Given the description of an element on the screen output the (x, y) to click on. 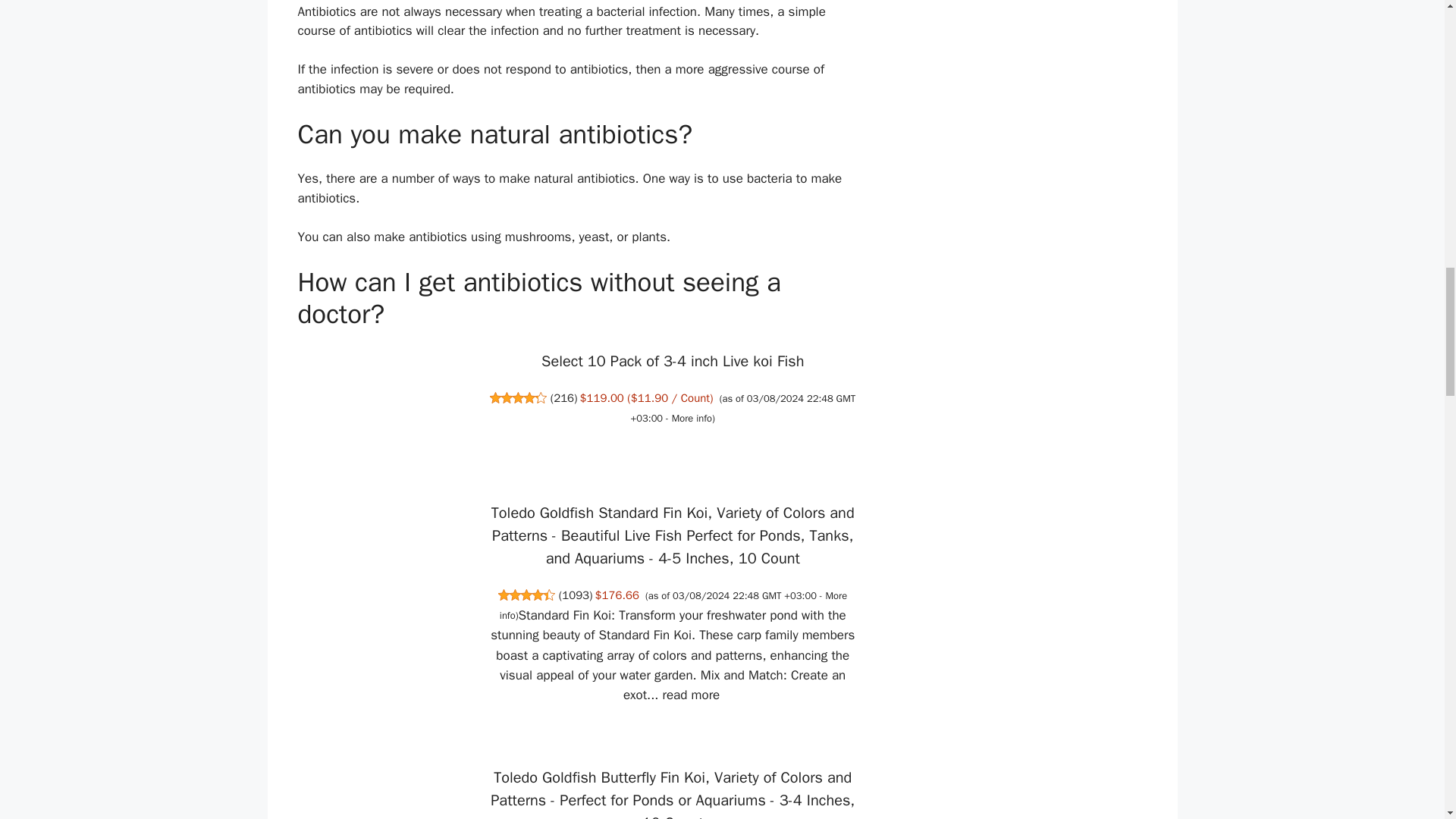
Select 10 Pack of 3-4 inch Live koi Fish (672, 361)
